Given the description of an element on the screen output the (x, y) to click on. 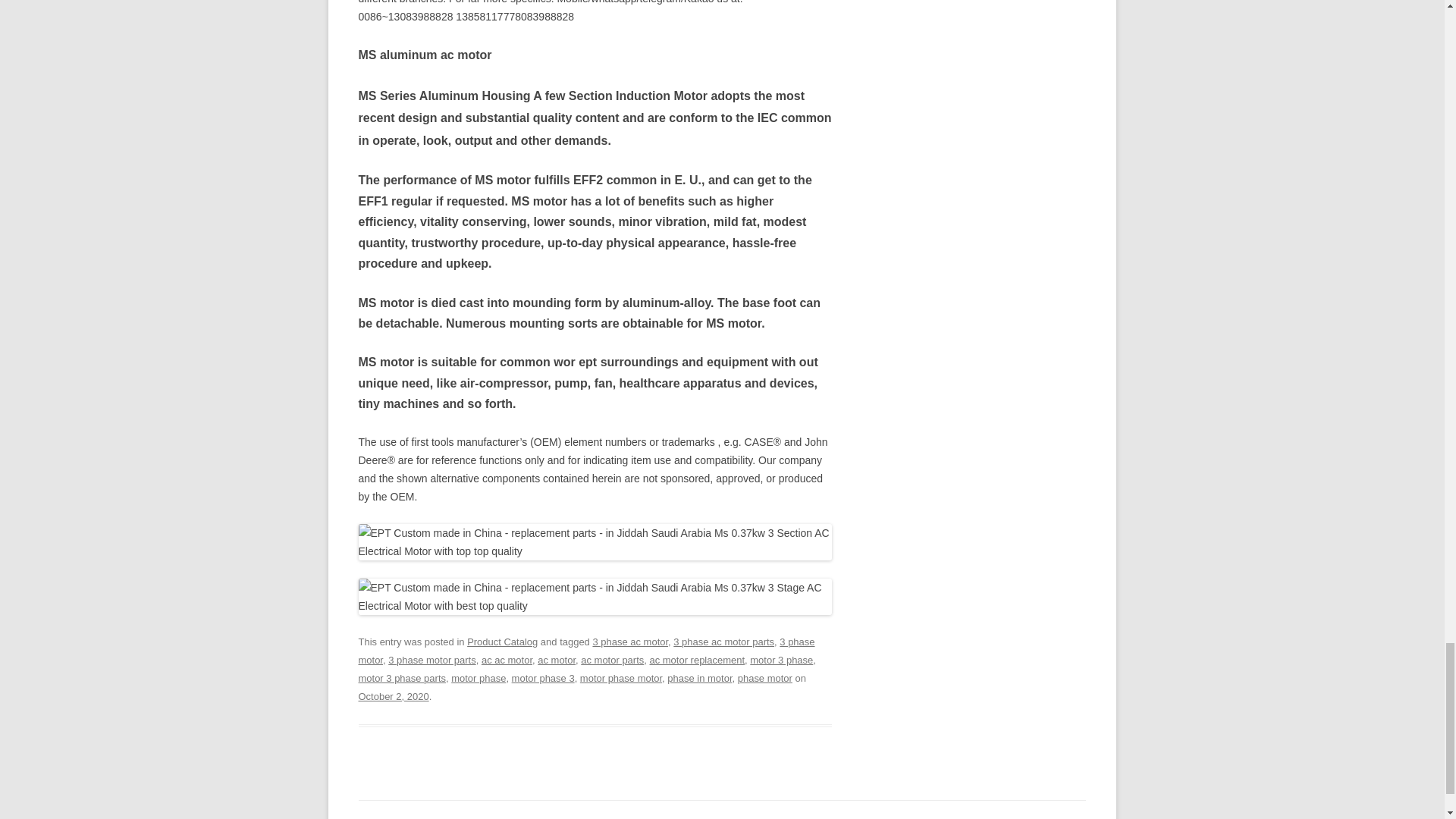
5:34 pm (393, 696)
